Given the description of an element on the screen output the (x, y) to click on. 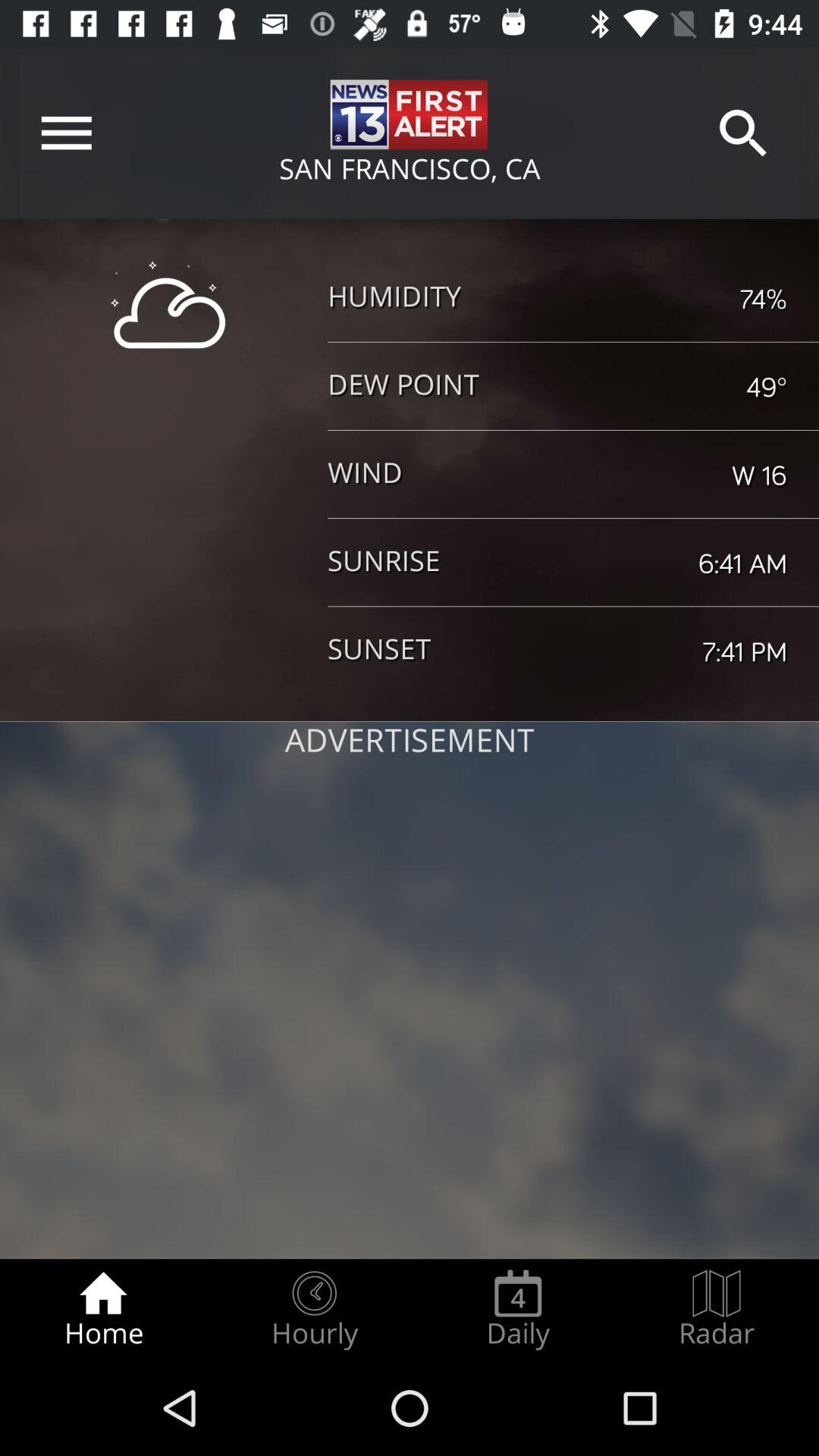
scroll until radar (716, 1309)
